Given the description of an element on the screen output the (x, y) to click on. 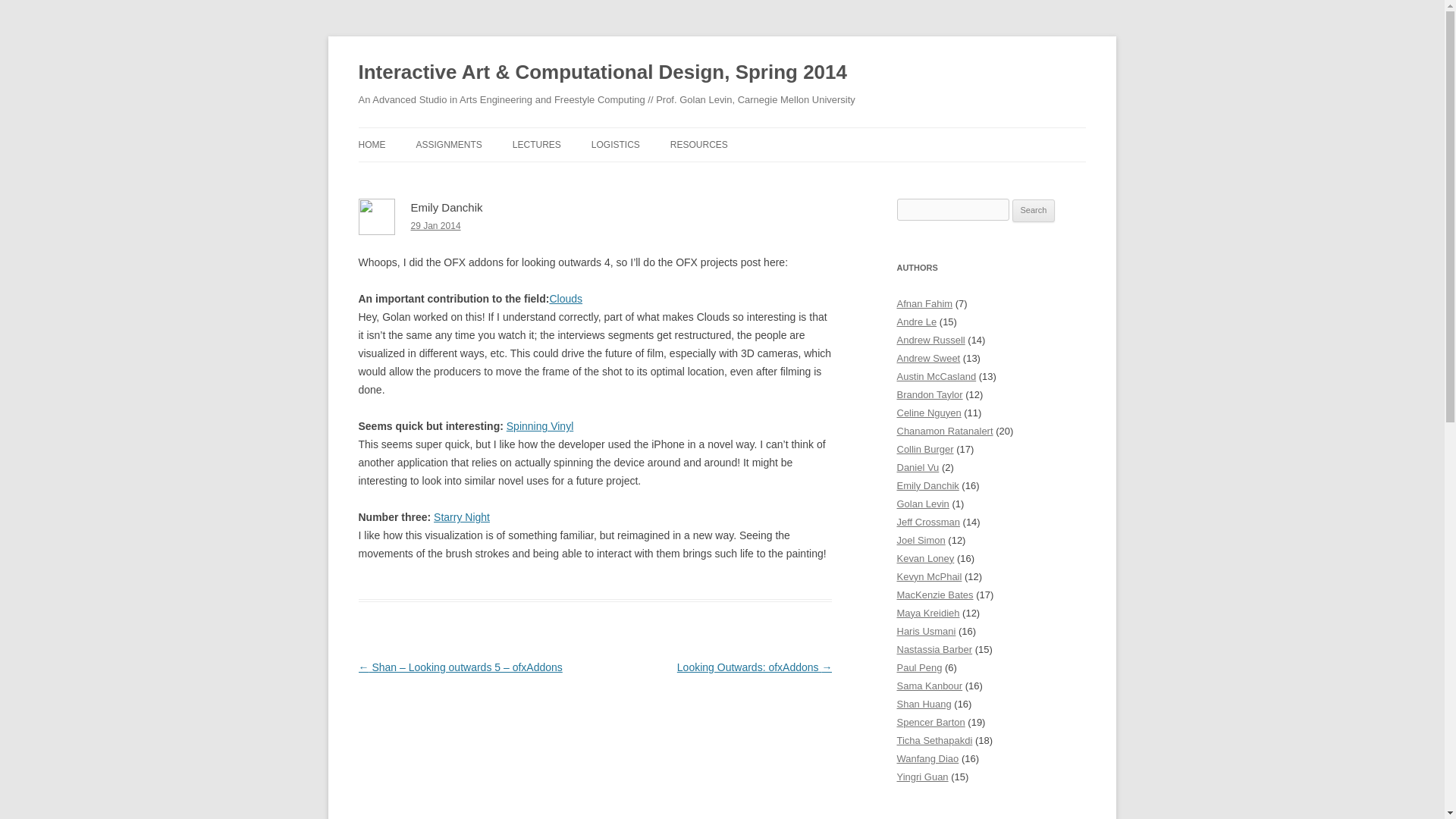
Spinning Vinyl (539, 426)
RESOURCES (698, 144)
Posts by Brandon Taylor (929, 394)
Posts by Andrew Russell (929, 339)
Posts by Chanamon Ratanalert (944, 430)
Skip to content (757, 132)
Posts by Afnan Fahim (924, 303)
Posts by Andre Le (916, 321)
Posts by Golan Levin (922, 503)
Posts by Austin McCasland (935, 376)
